Given the description of an element on the screen output the (x, y) to click on. 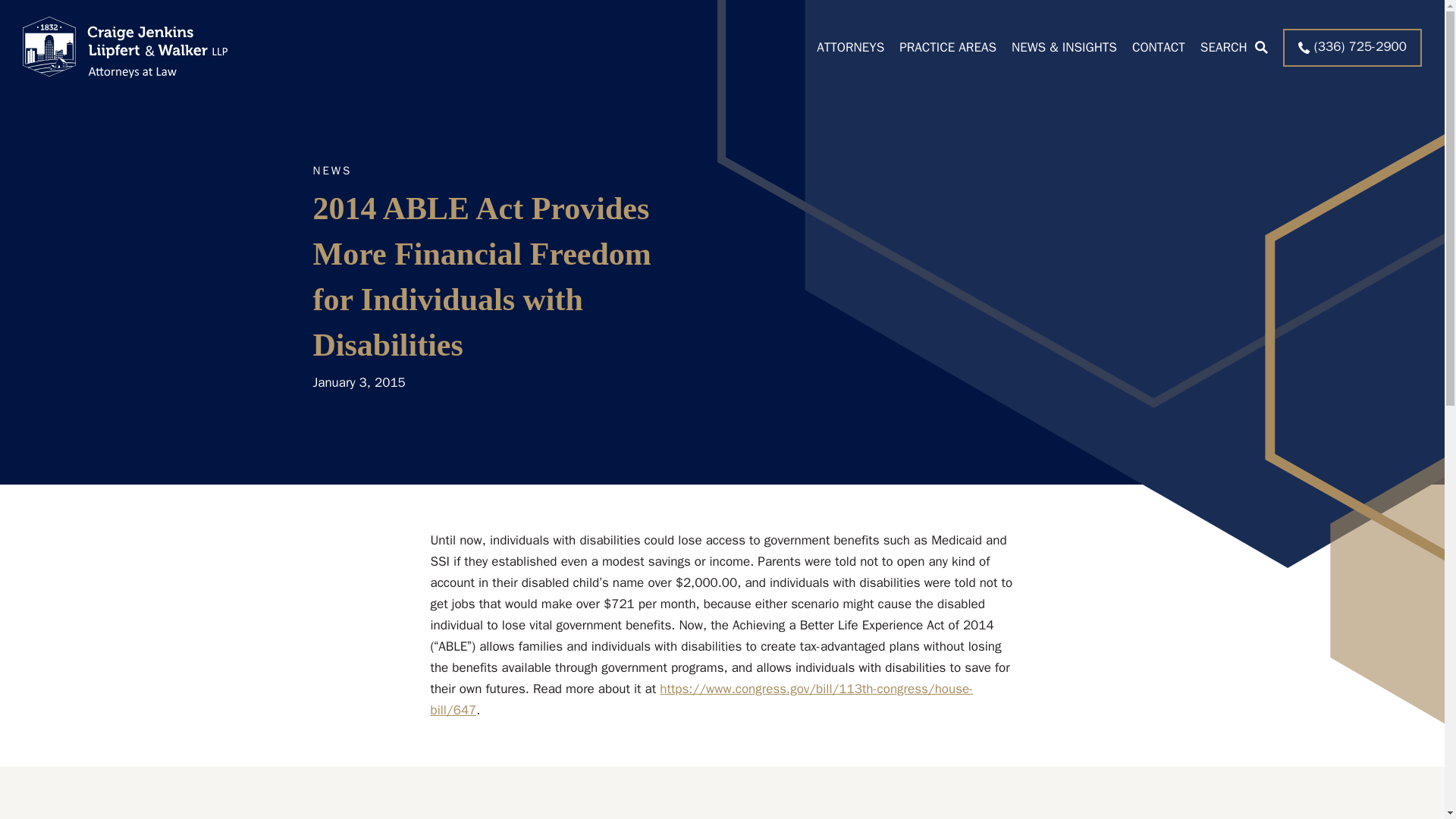
SEARCH (1233, 47)
CONTACT (1158, 47)
homepage (125, 47)
ATTORNEYS (849, 47)
PRACTICE AREAS (947, 47)
